Given the description of an element on the screen output the (x, y) to click on. 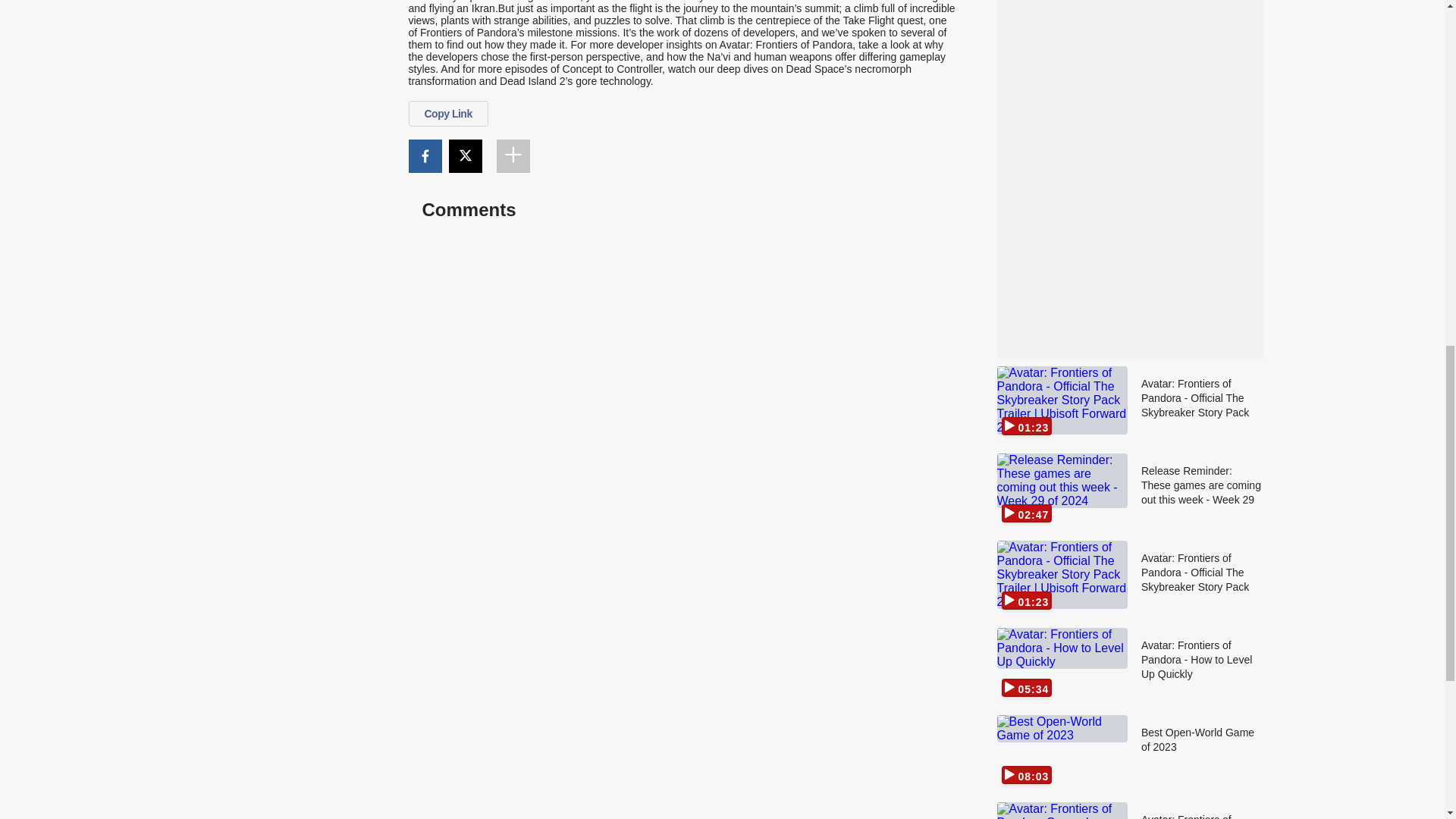
01:23 (1060, 402)
Copy Link (447, 113)
